Given the description of an element on the screen output the (x, y) to click on. 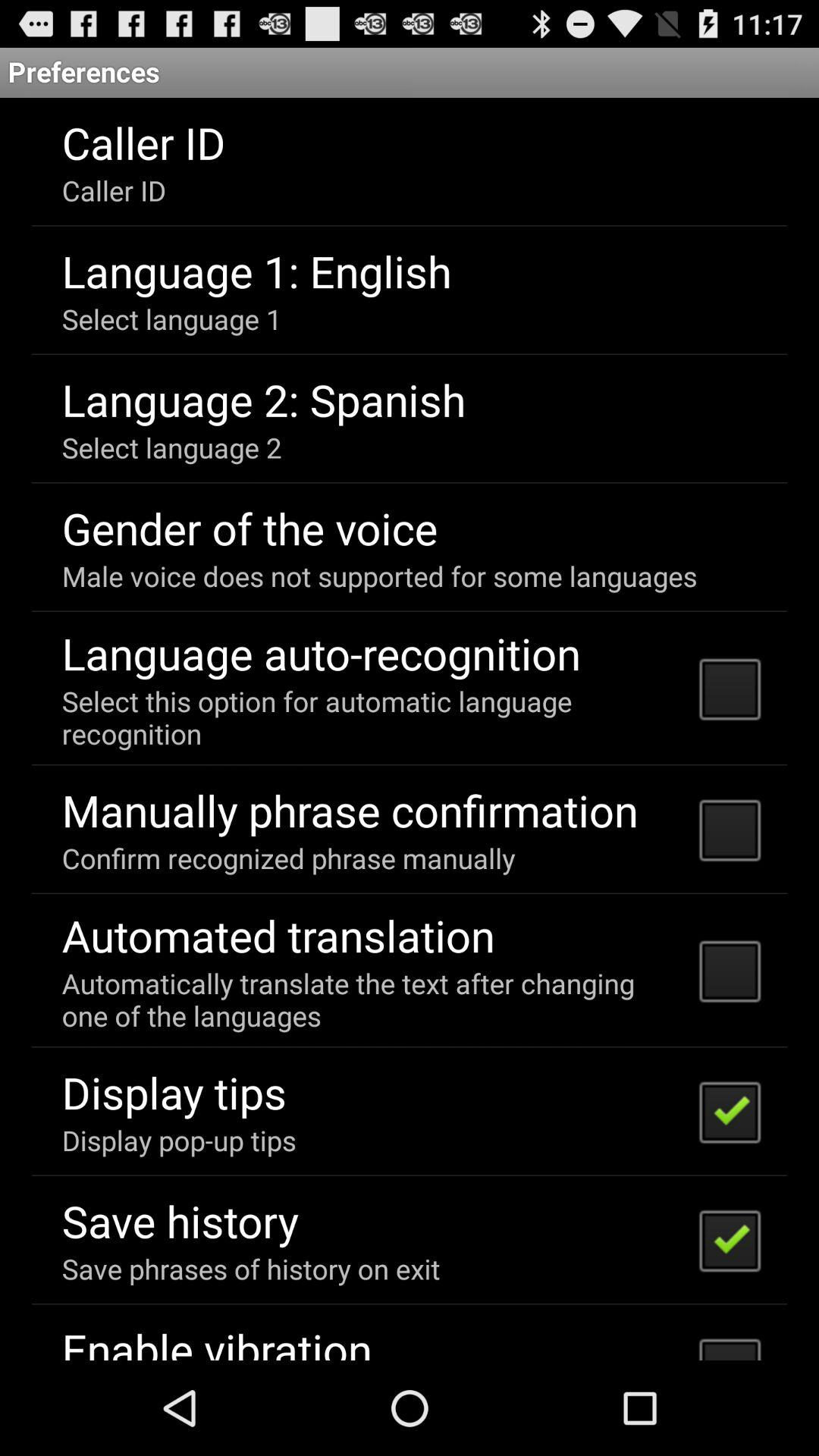
press icon above the display tips item (370, 999)
